Given the description of an element on the screen output the (x, y) to click on. 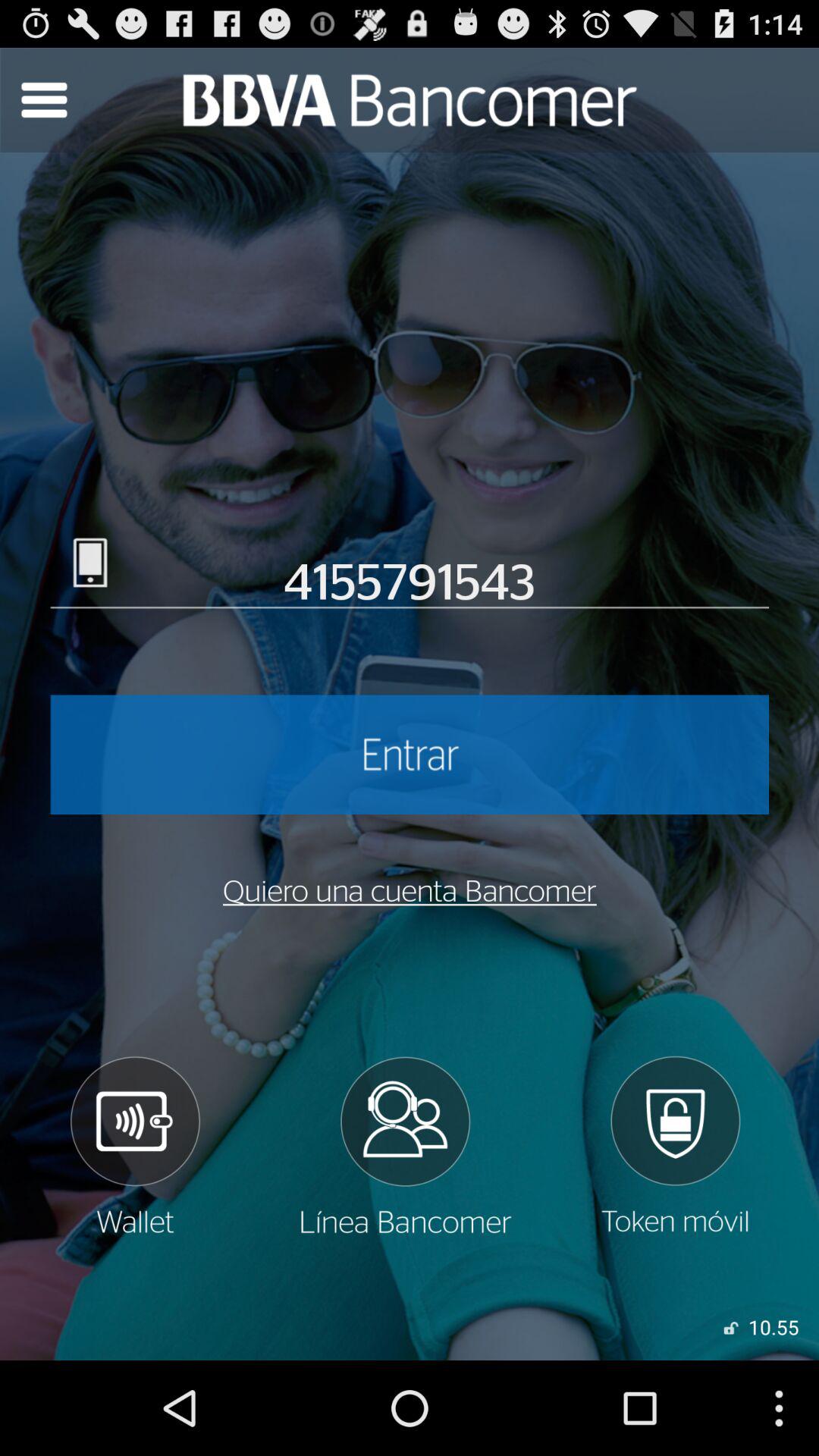
get the token for movie (674, 1145)
